Given the description of an element on the screen output the (x, y) to click on. 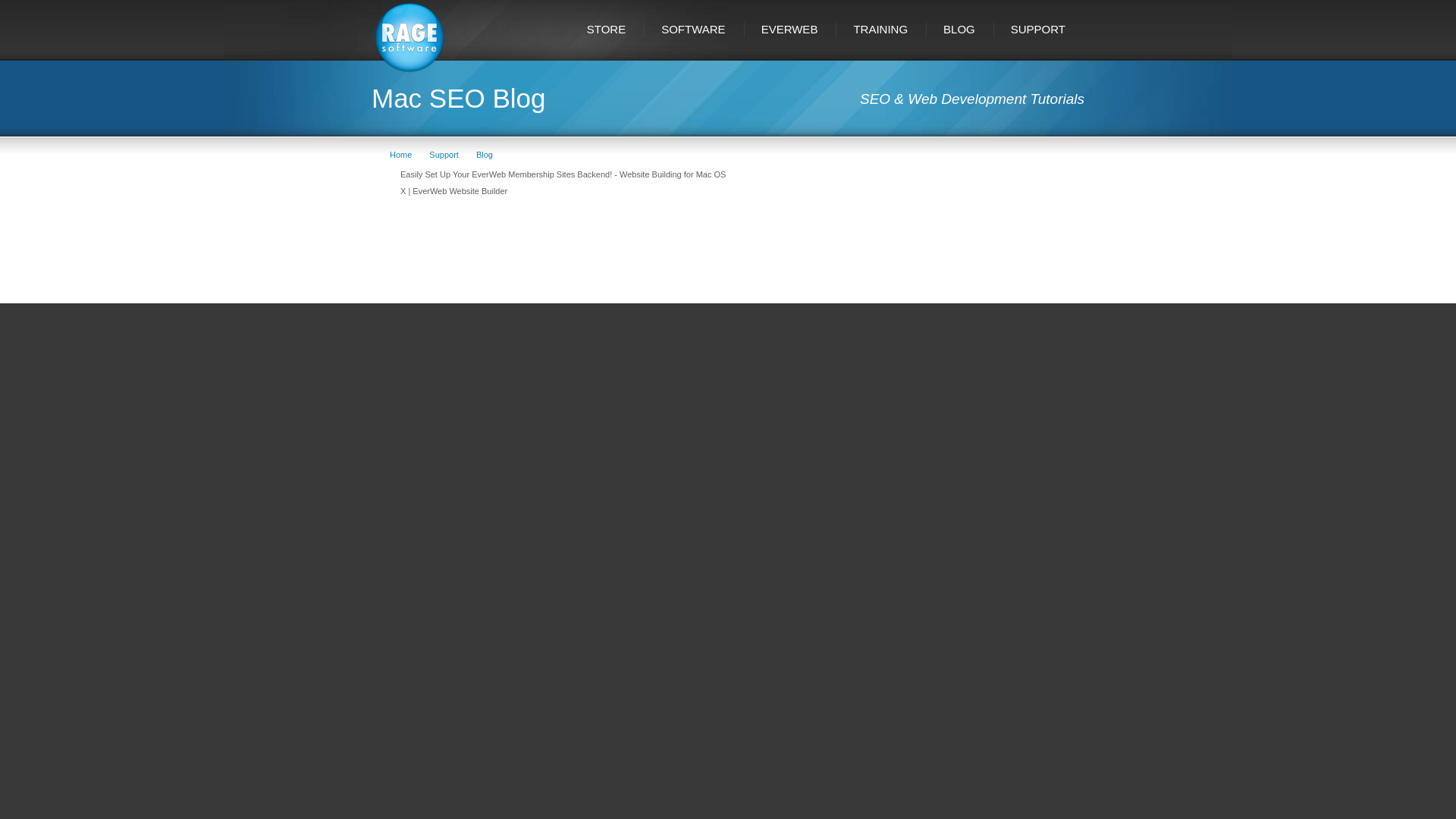
SOFTWARE (694, 28)
SUPPORT (1039, 28)
BLOG (960, 28)
Support (443, 153)
TRAINING (880, 28)
STORE (607, 28)
EVERWEB (790, 28)
Home (401, 153)
Blog (484, 153)
